Given the description of an element on the screen output the (x, y) to click on. 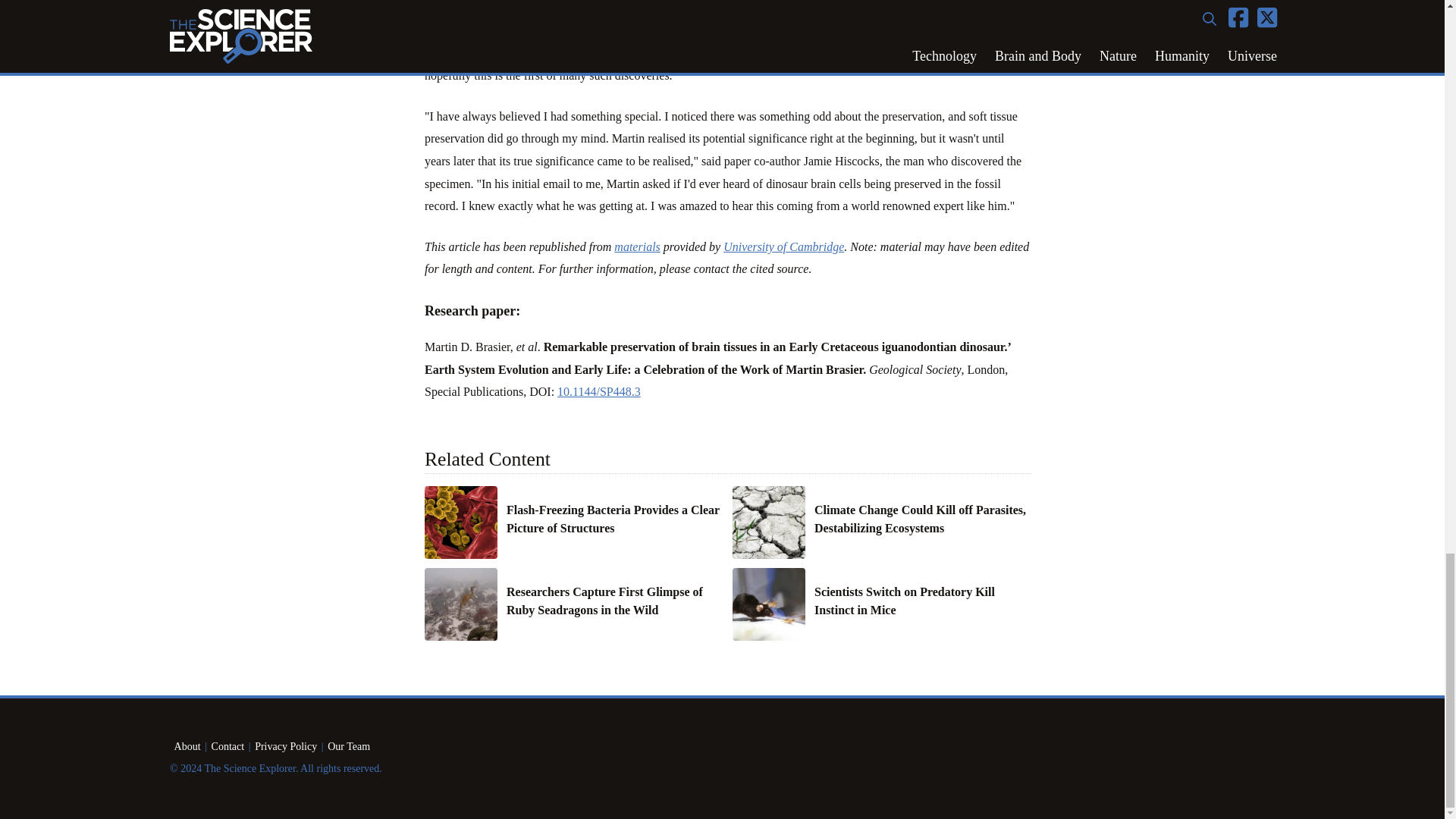
materials (636, 246)
University of Cambridge (783, 246)
